Given the description of an element on the screen output the (x, y) to click on. 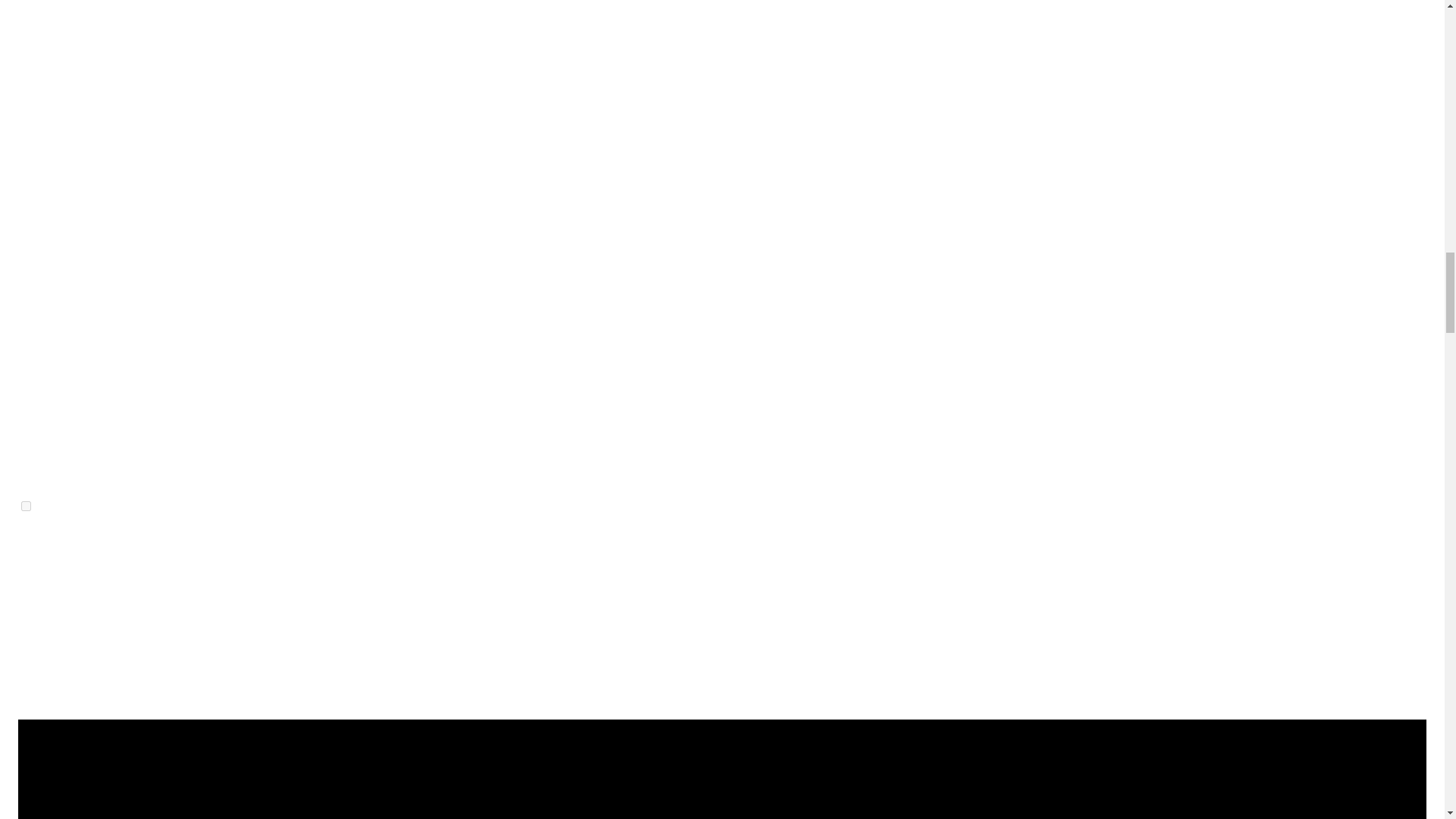
on (25, 506)
